Given the description of an element on the screen output the (x, y) to click on. 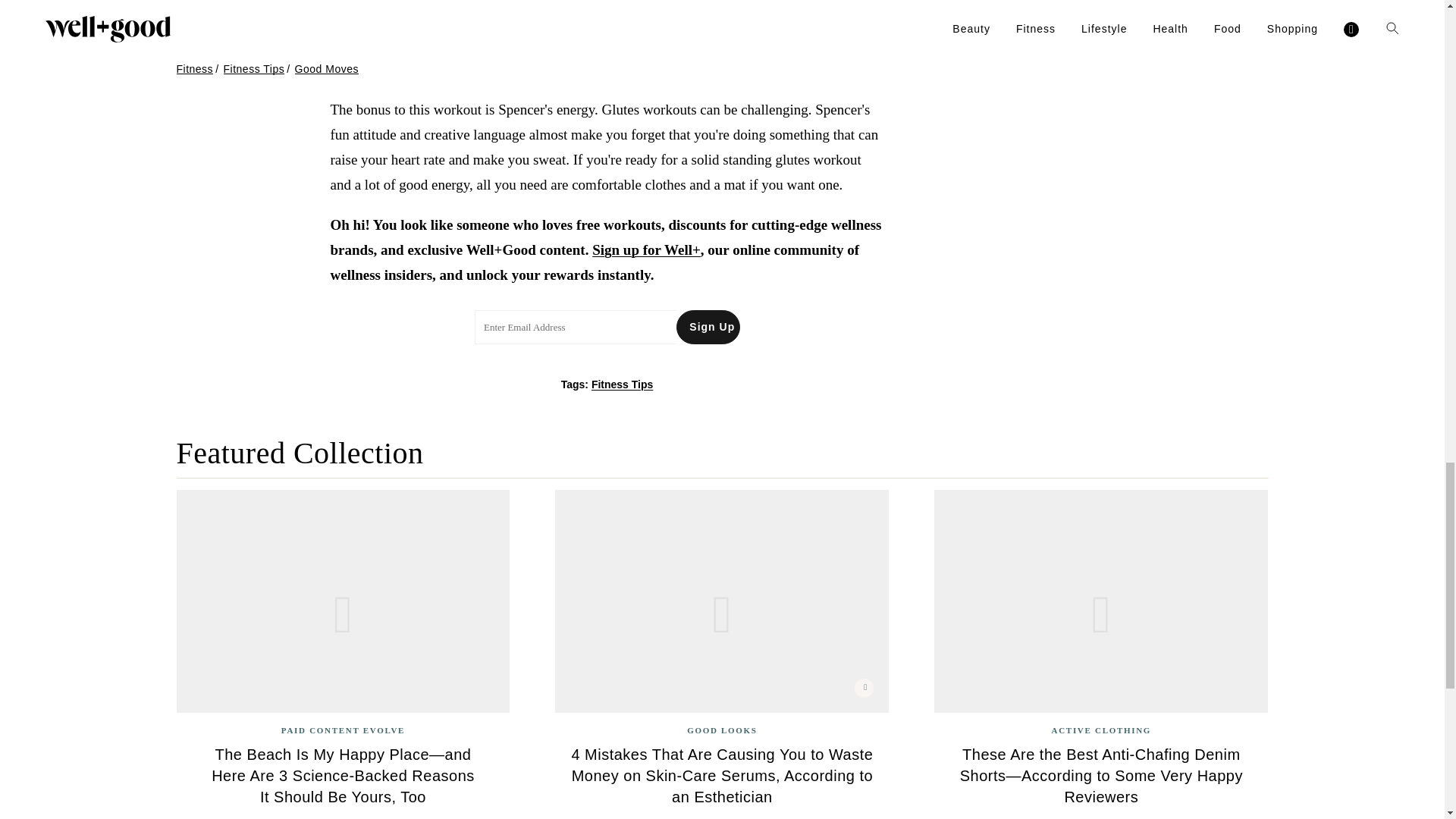
Sign Up (708, 326)
